Given the description of an element on the screen output the (x, y) to click on. 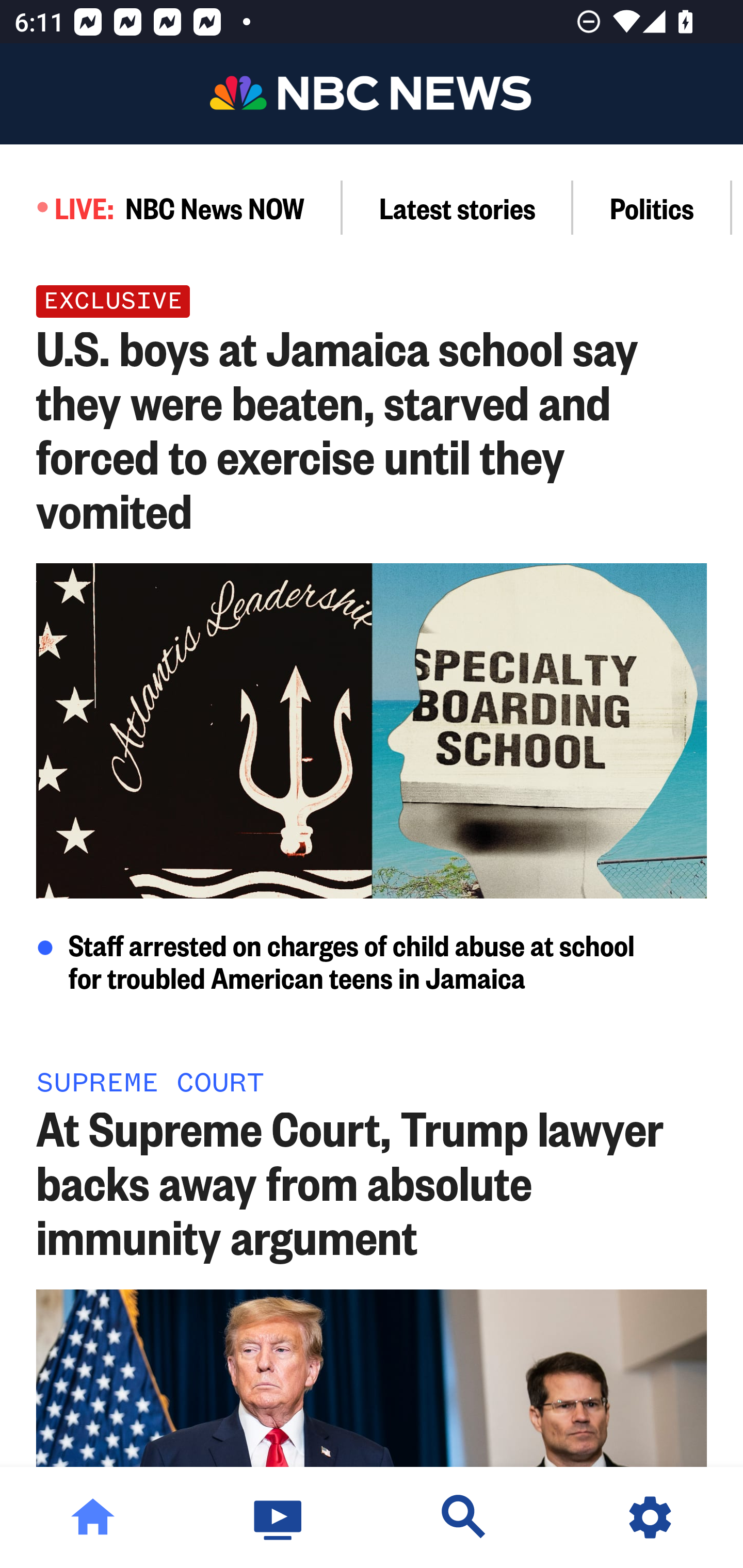
LIVE:  NBC News NOW (171, 207)
Latest stories Section,Latest stories (457, 207)
Politics Section,Politics (652, 207)
Watch (278, 1517)
Discover (464, 1517)
Settings (650, 1517)
